Given the description of an element on the screen output the (x, y) to click on. 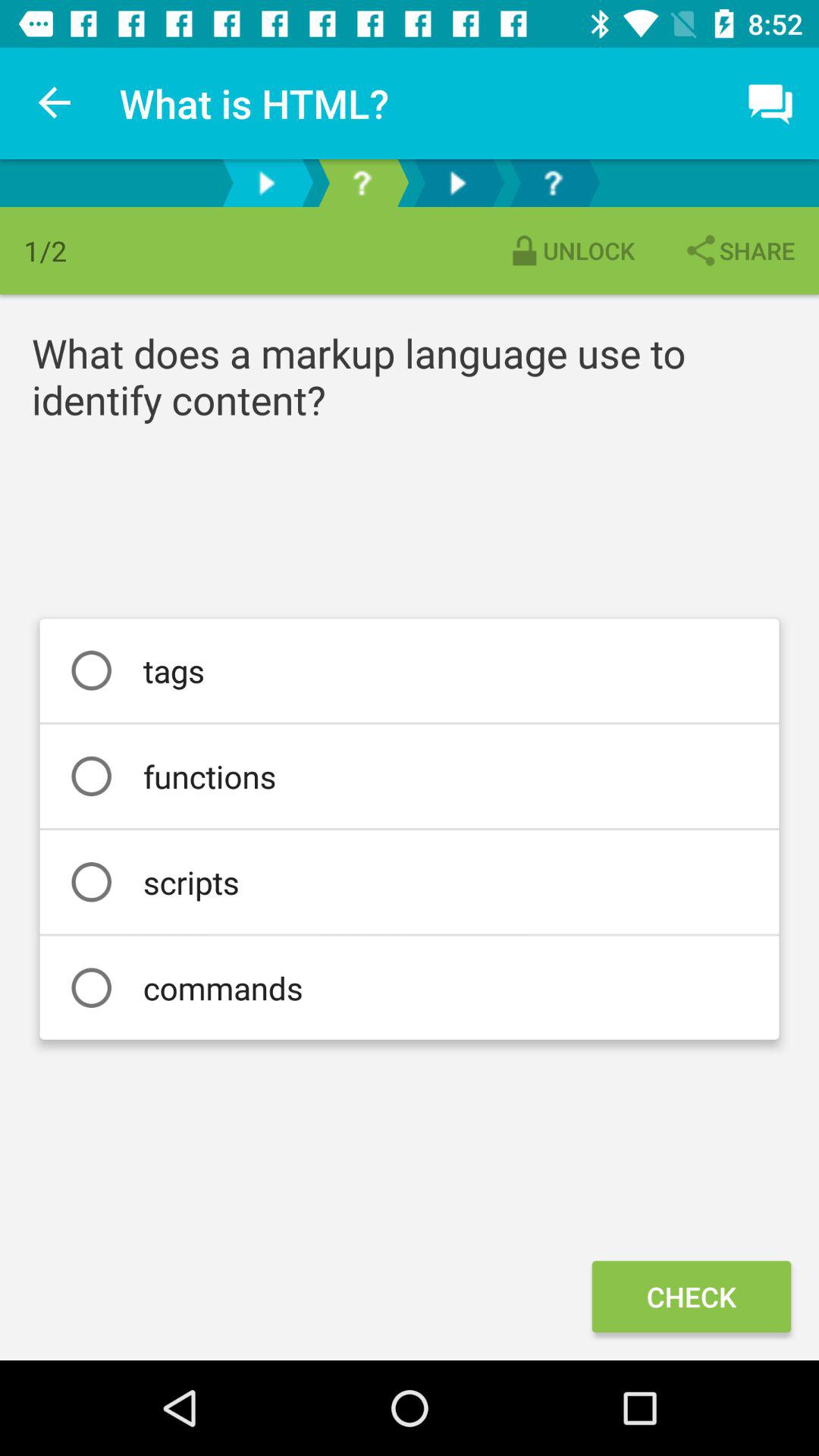
tap item above 1/2 (55, 103)
